Given the description of an element on the screen output the (x, y) to click on. 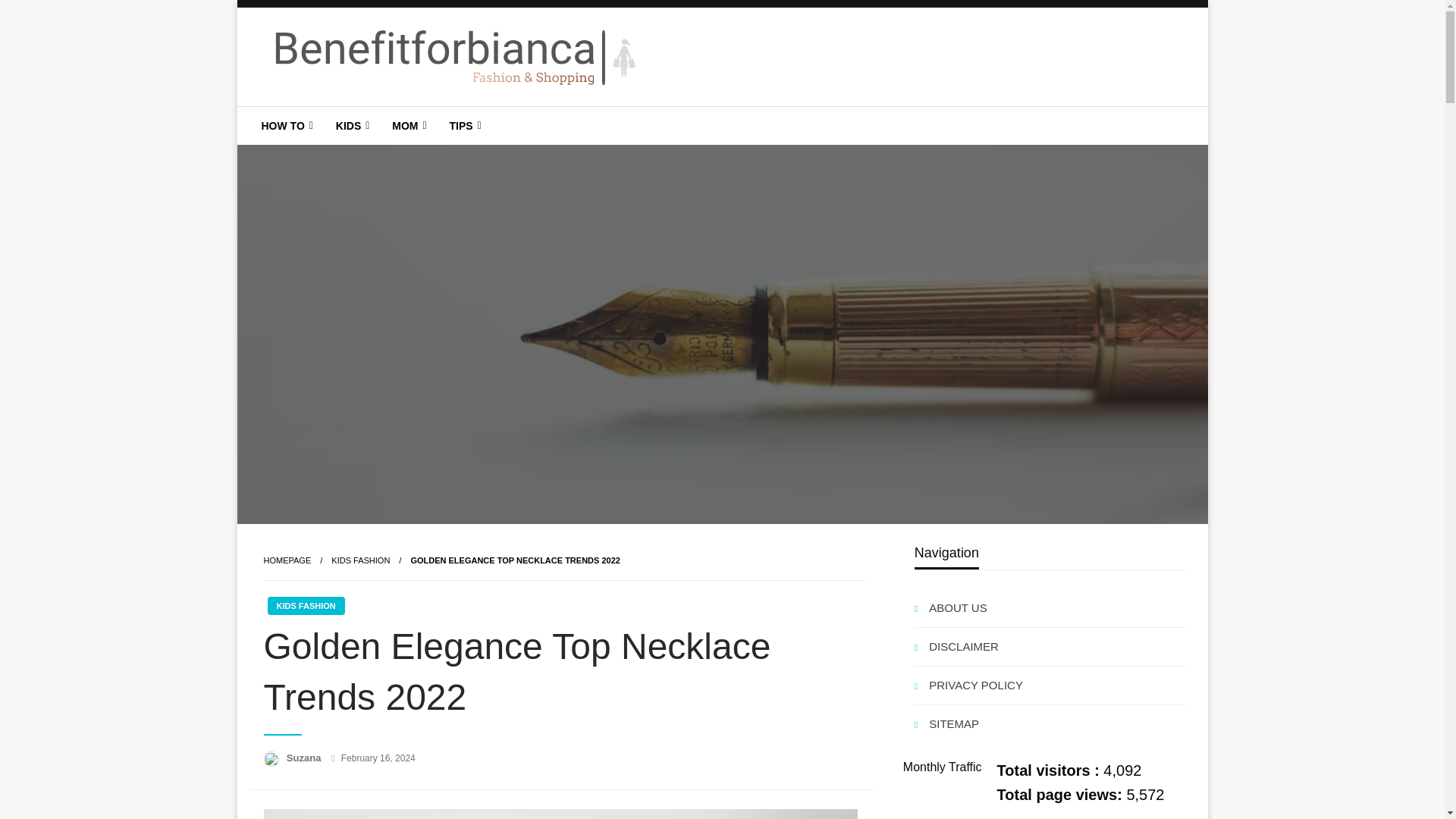
Homepage (287, 560)
HOMEPAGE (287, 560)
Suzana (304, 757)
KIDS FASHION (304, 606)
KIDS (350, 125)
Golden Elegance Top Necklace Trends 2022 (515, 560)
MOM (406, 125)
February 16, 2024 (377, 757)
Suzana (304, 757)
BenefitforBianca (374, 118)
TIPS (462, 125)
HOW TO (285, 125)
Kids Fashion (360, 560)
KIDS FASHION (360, 560)
